Given the description of an element on the screen output the (x, y) to click on. 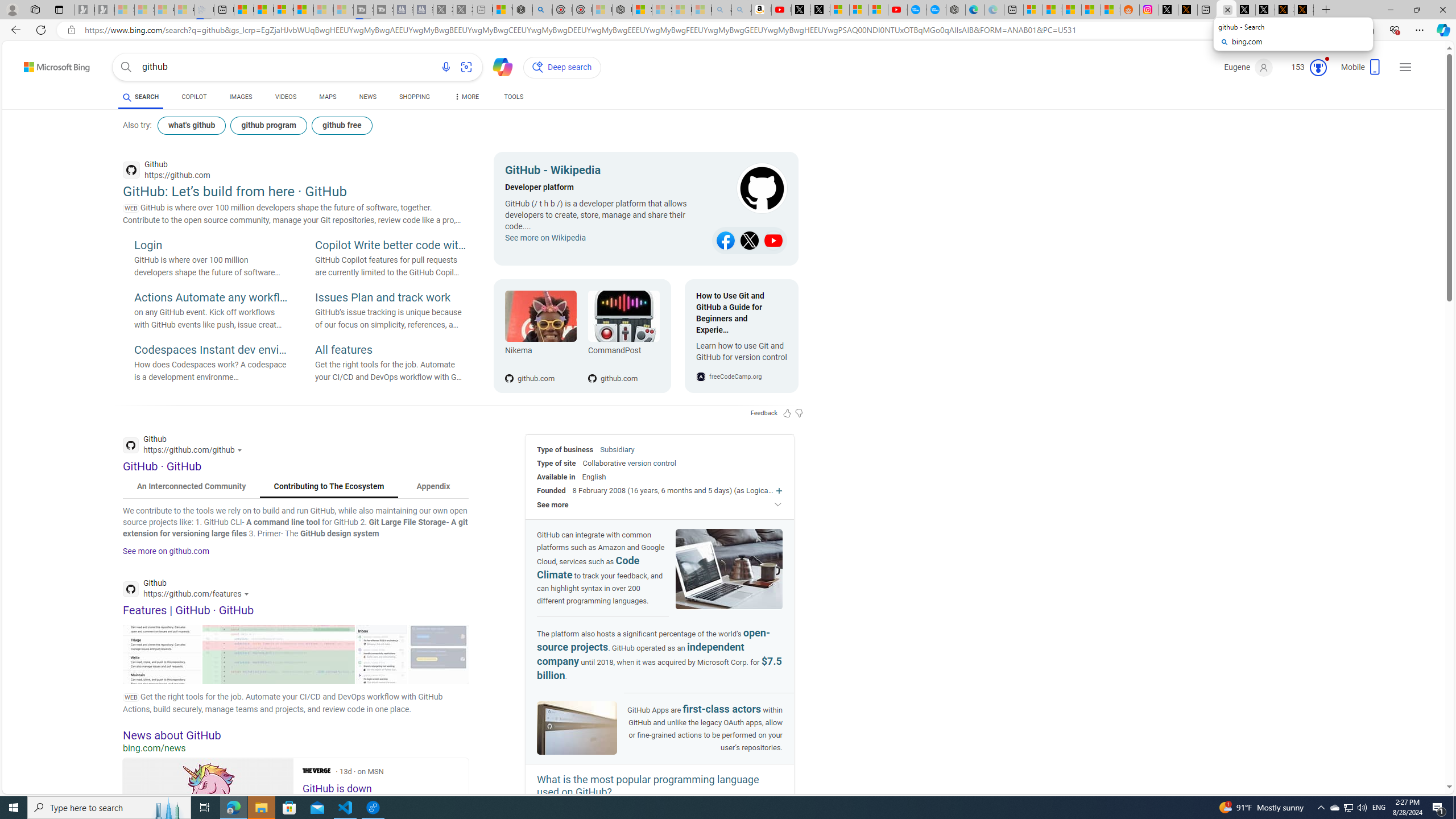
Overview (283, 9)
See more on github.com (165, 551)
Newsletter Sign Up - Sleeping (104, 9)
Github (188, 589)
TOOLS (512, 98)
New tab - Sleeping (482, 9)
SEARCH (140, 96)
Eugene (1249, 67)
